Given the description of an element on the screen output the (x, y) to click on. 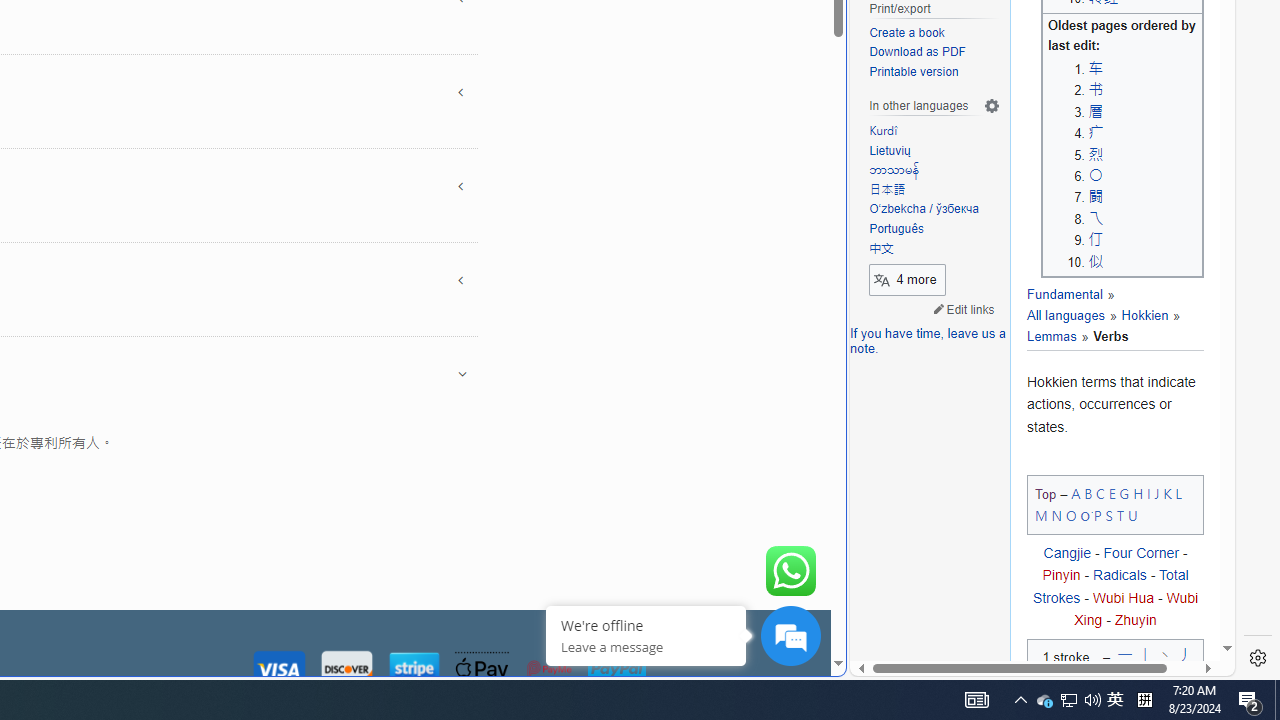
Zhuyin (1135, 620)
Radicals (1119, 575)
Verbs (1102, 336)
G (1124, 492)
Top (1046, 493)
Create a book (906, 32)
